Given the description of an element on the screen output the (x, y) to click on. 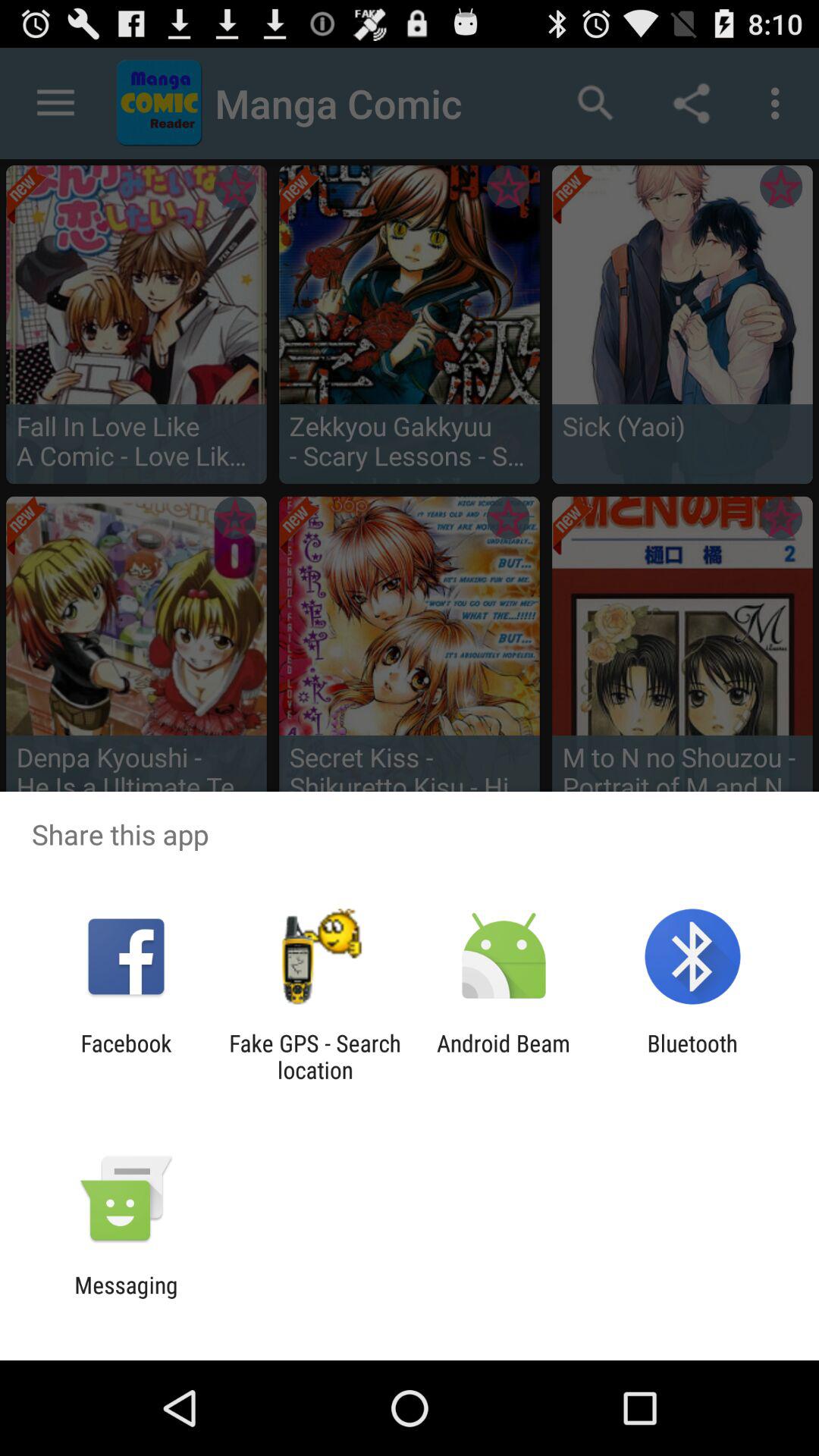
choose the facebook app (125, 1056)
